Given the description of an element on the screen output the (x, y) to click on. 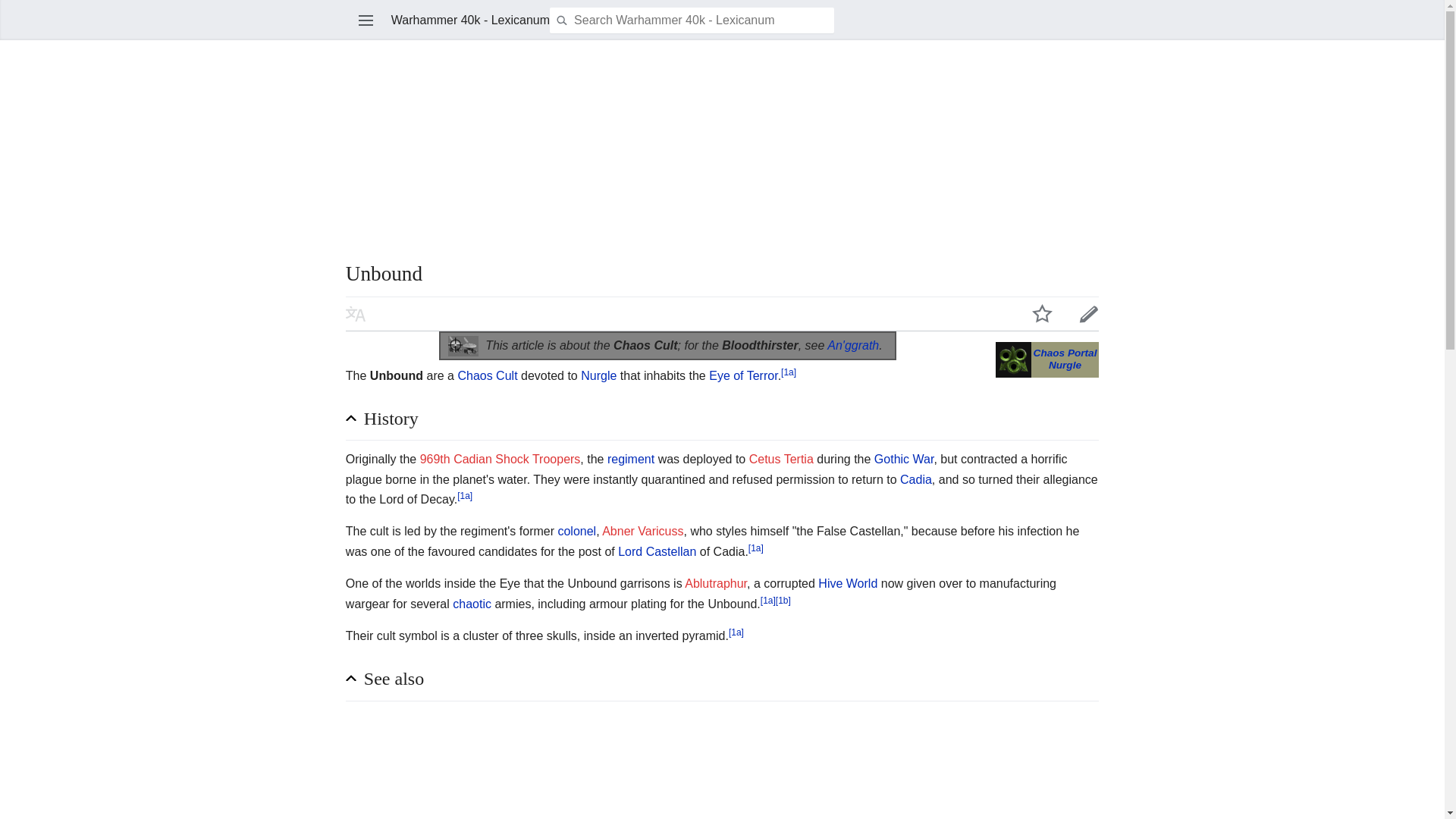
969th Cadian Shock Troopers (500, 459)
Chaos Portal (1065, 352)
Watch this page (1042, 313)
Colonel (576, 530)
Ablutraphur (715, 583)
Hive World (847, 583)
An'ggrath (853, 345)
Cadia (915, 479)
Open main menu (366, 20)
colonel (576, 530)
